Given the description of an element on the screen output the (x, y) to click on. 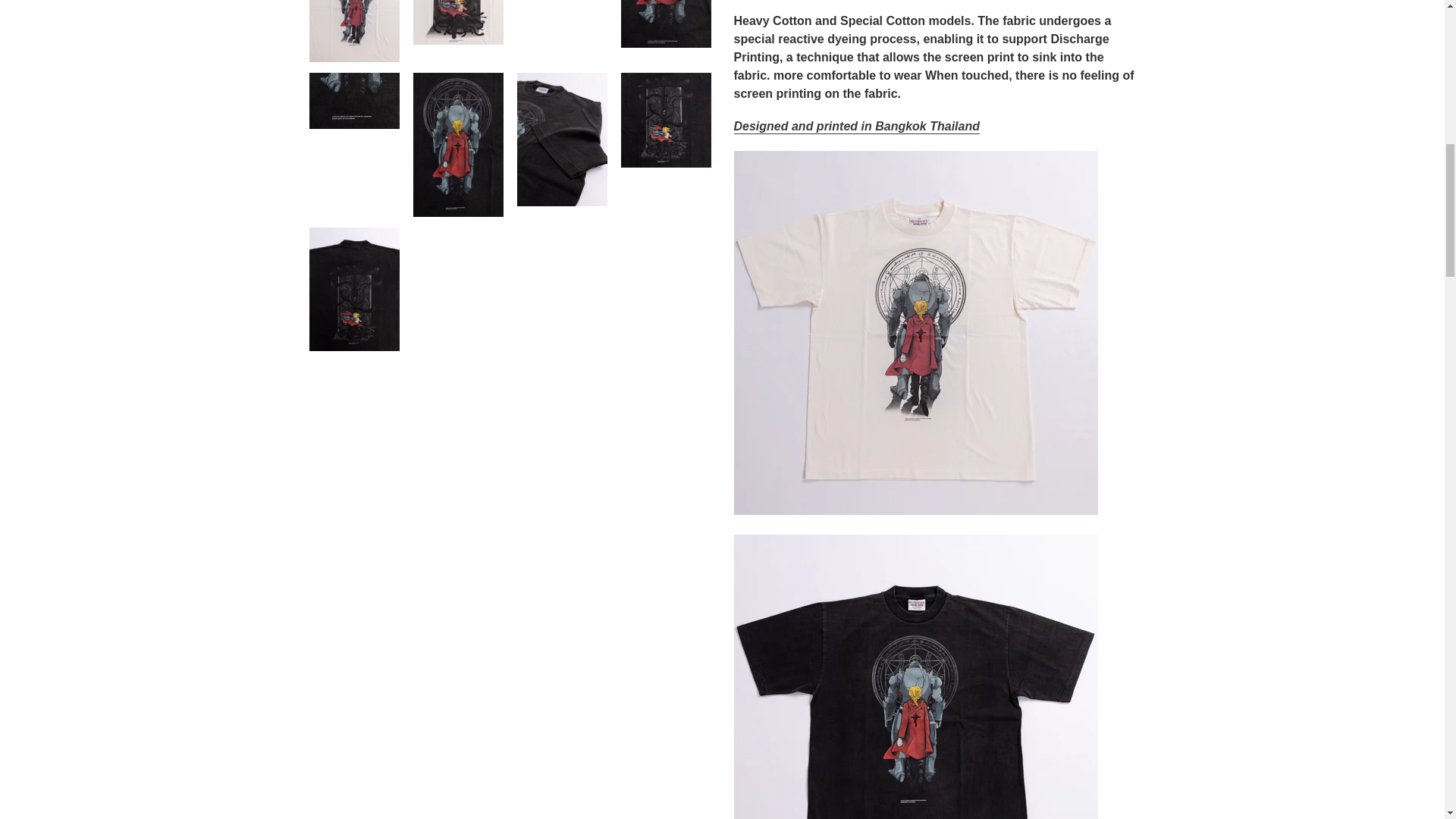
N S DIGITAL (856, 126)
